Given the description of an element on the screen output the (x, y) to click on. 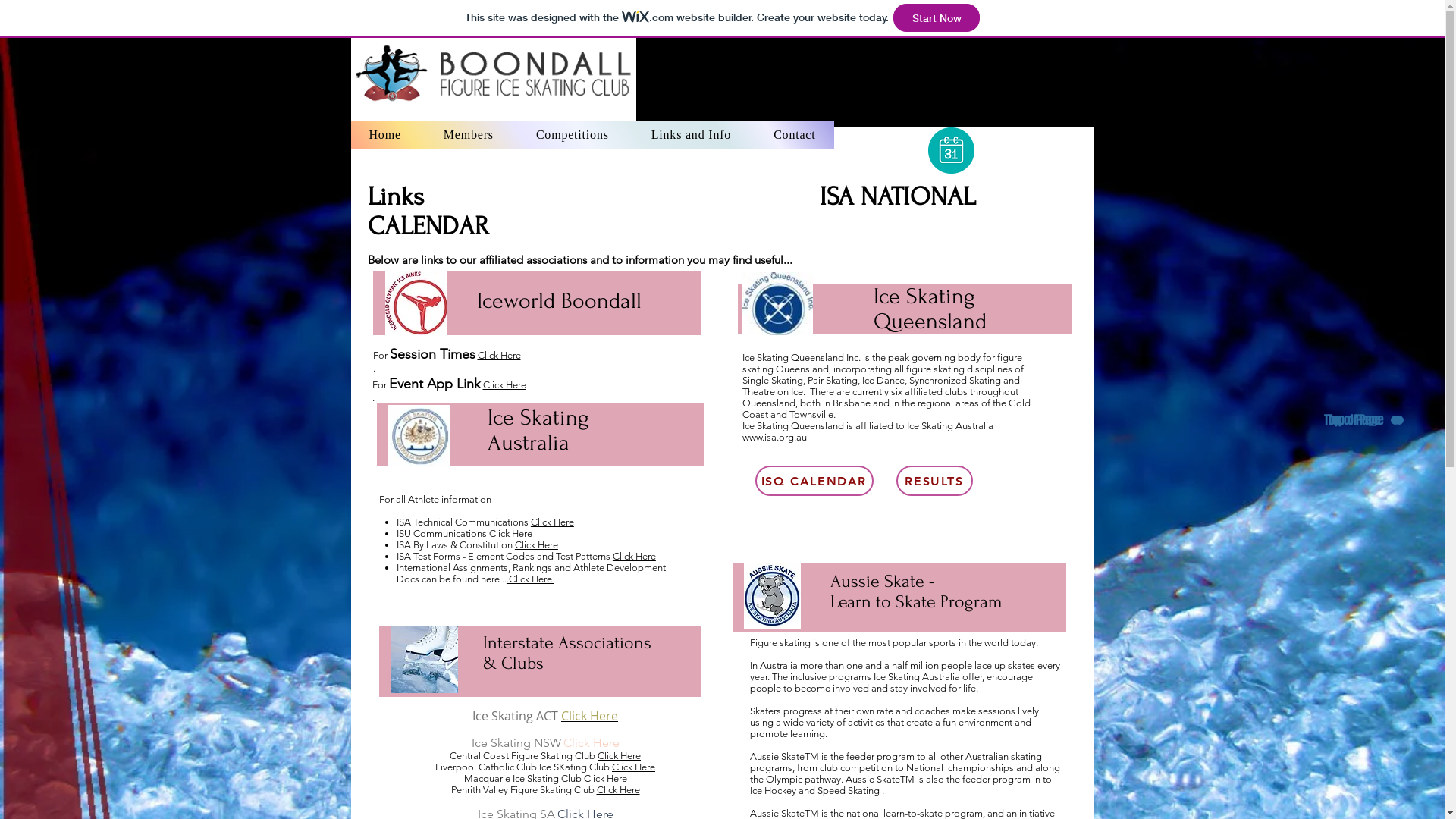
Click Here Element type: text (633, 555)
Ice_Skating_Australia_298.jpg Element type: hover (418, 435)
Members Element type: text (991, 21)
ISQ logo.jpg Element type: hover (776, 303)
Top of Page Element type: text (1361, 419)
Click Here Element type: text (536, 544)
Competitions Element type: text (572, 134)
Click Here Element type: text (510, 533)
ISQ CALENDAR Element type: text (814, 480)
Events Calendar Element type: text (819, 480)
Contact Element type: text (794, 134)
Aussie Skate logo thumbnail.jpg Element type: hover (771, 595)
Home Element type: text (882, 21)
Links and Info Element type: text (1209, 21)
Iceworld.jpg Element type: hover (416, 303)
RESULTS Element type: text (934, 480)
Click Here Element type: text (498, 354)
Links and Info Element type: text (691, 134)
.Click Here  Element type: text (530, 578)
Members Element type: text (468, 134)
Click Here Element type: text (617, 789)
Home Element type: text (384, 134)
Click Here Element type: text (618, 755)
Contact Element type: text (1319, 21)
Competitions Element type: text (1100, 21)
Click Here Element type: text (605, 778)
Click Here Element type: text (633, 766)
Click Here Element type: text (590, 742)
Click Here Element type: text (503, 384)
icerink_innerbig.jpg Element type: hover (424, 659)
Click Here Element type: text (552, 521)
Click Here Element type: text (589, 715)
Top of Page Element type: text (1357, 419)
